Given the description of an element on the screen output the (x, y) to click on. 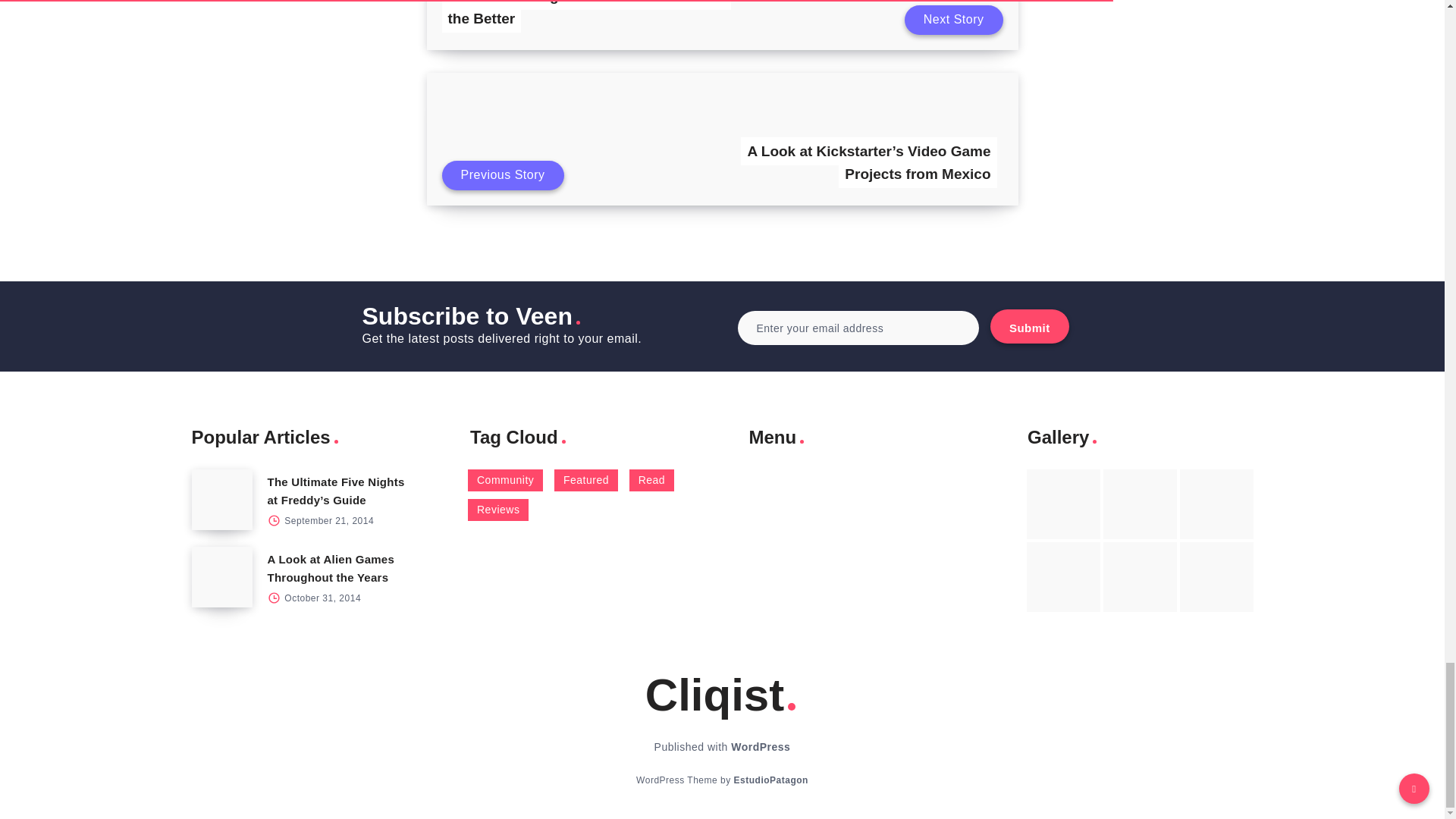
Retro Camera (1139, 503)
Powered with Veen (770, 779)
Pink paper over blue background (1063, 503)
Old music caption (1216, 503)
Just a nice paint (1139, 576)
